Given the description of an element on the screen output the (x, y) to click on. 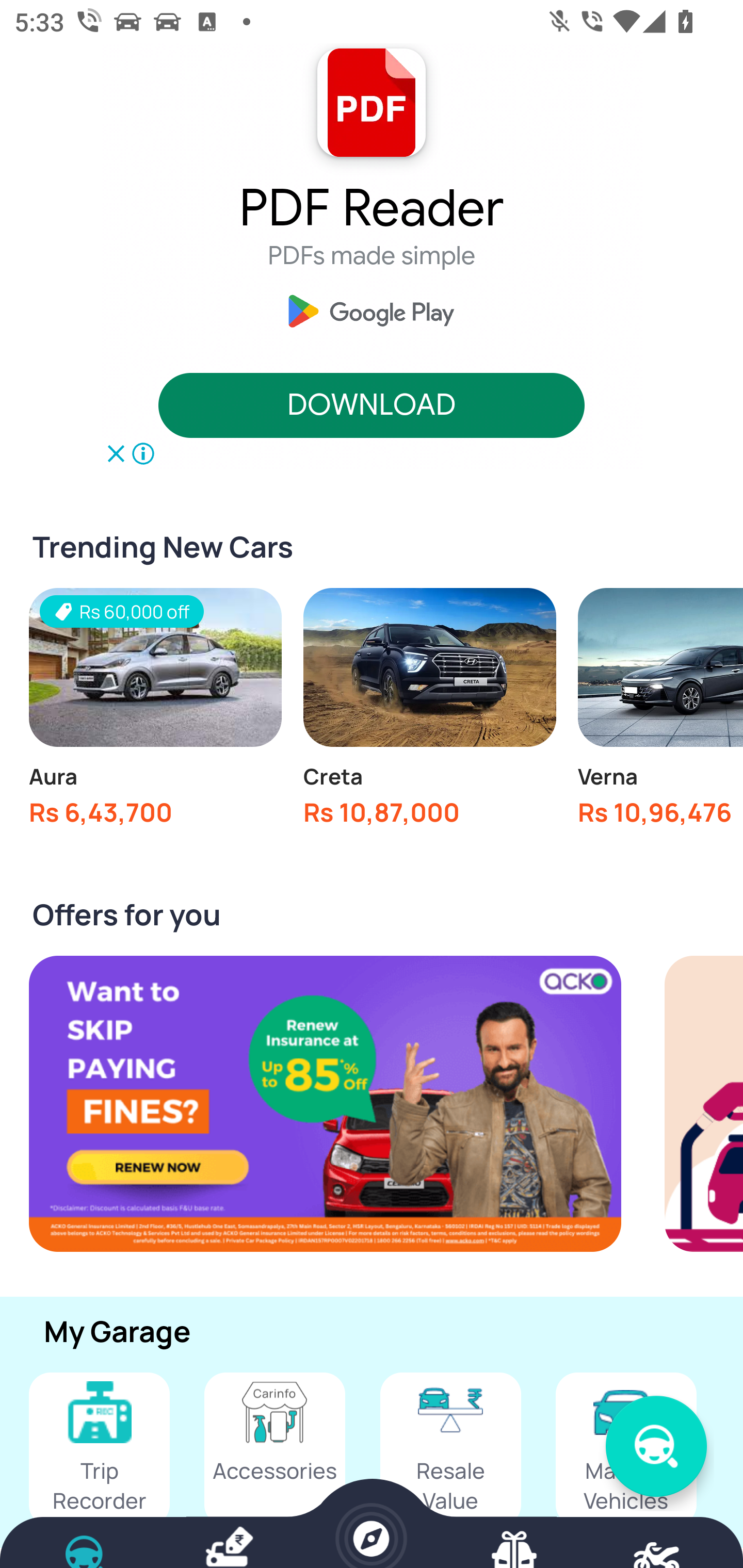
DOWNLOAD (371, 405)
Rs 60,000 off Aura Rs 6,43,700 onwards (154, 712)
Creta Rs 10,87,000 onwards (429, 712)
Verna Rs 10,96,476 onwards (660, 712)
Trip Recorder (98, 1448)
Accessories (274, 1448)
Resale
Value (450, 1448)
Manage
Vehicles (625, 1448)
